Given the description of an element on the screen output the (x, y) to click on. 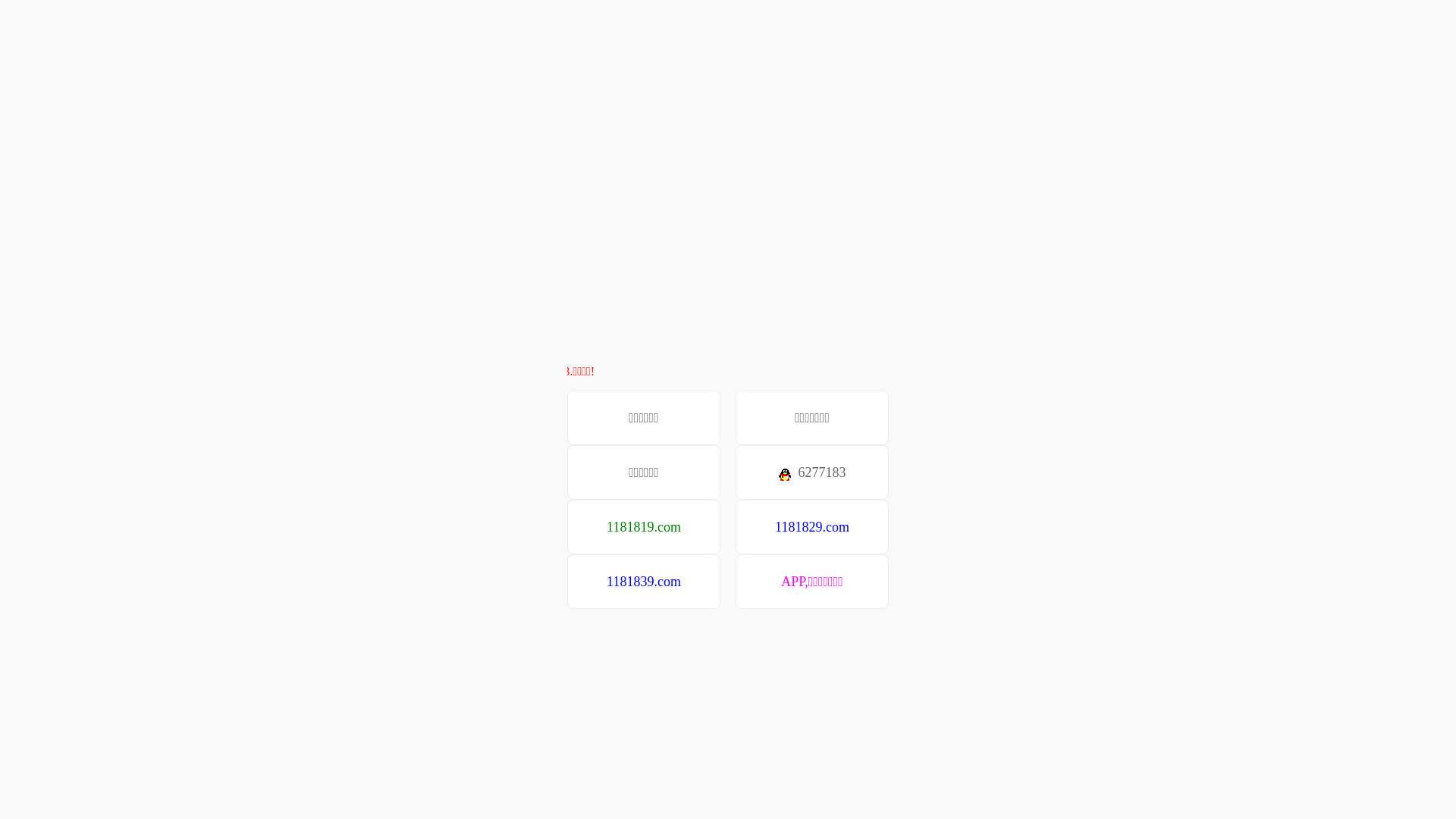
1181819.com Element type: text (643, 526)
1181829.com Element type: text (812, 526)
1181839.com Element type: text (643, 581)
